Given the description of an element on the screen output the (x, y) to click on. 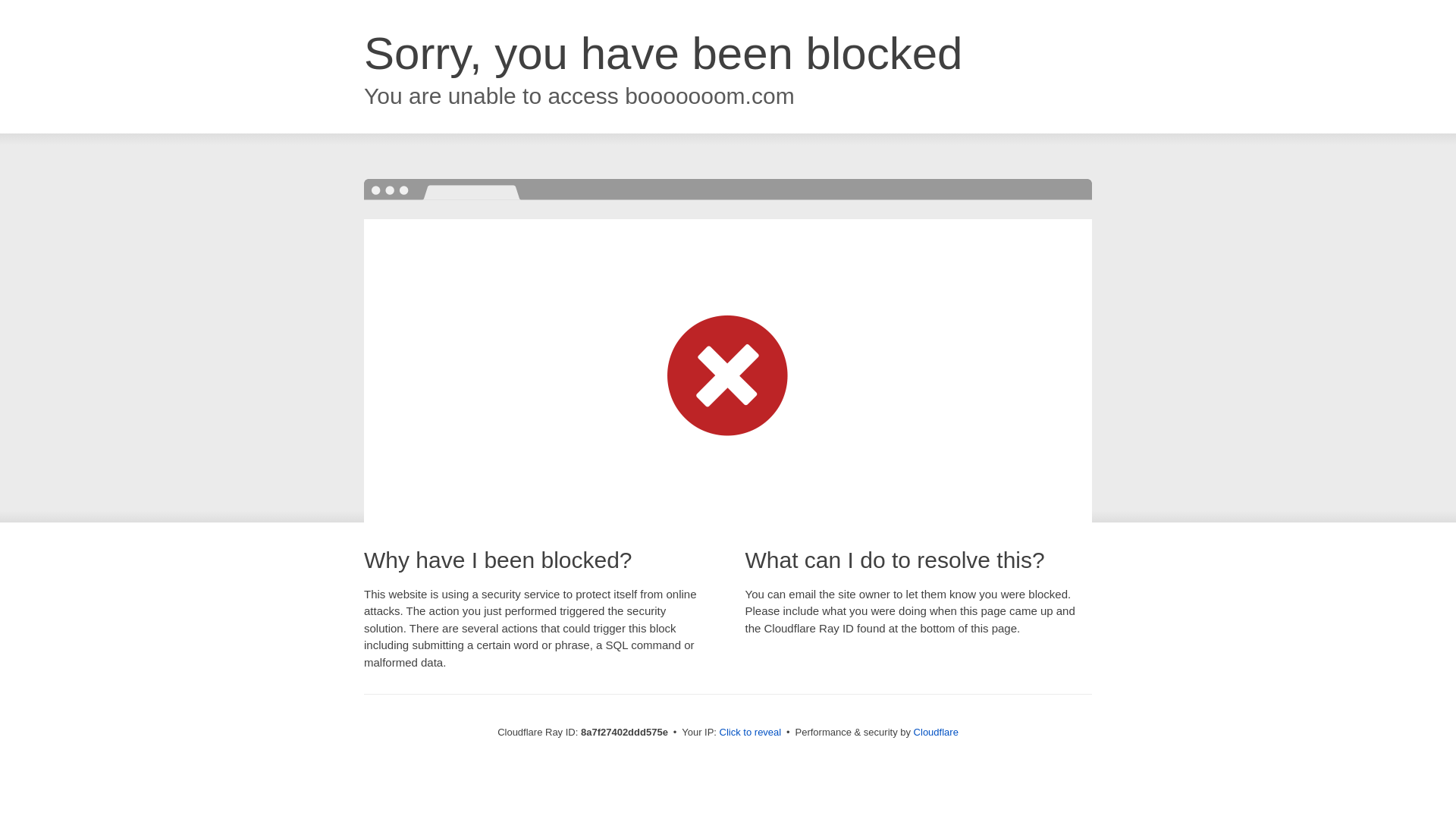
Click to reveal (750, 732)
Cloudflare (936, 731)
